Given the description of an element on the screen output the (x, y) to click on. 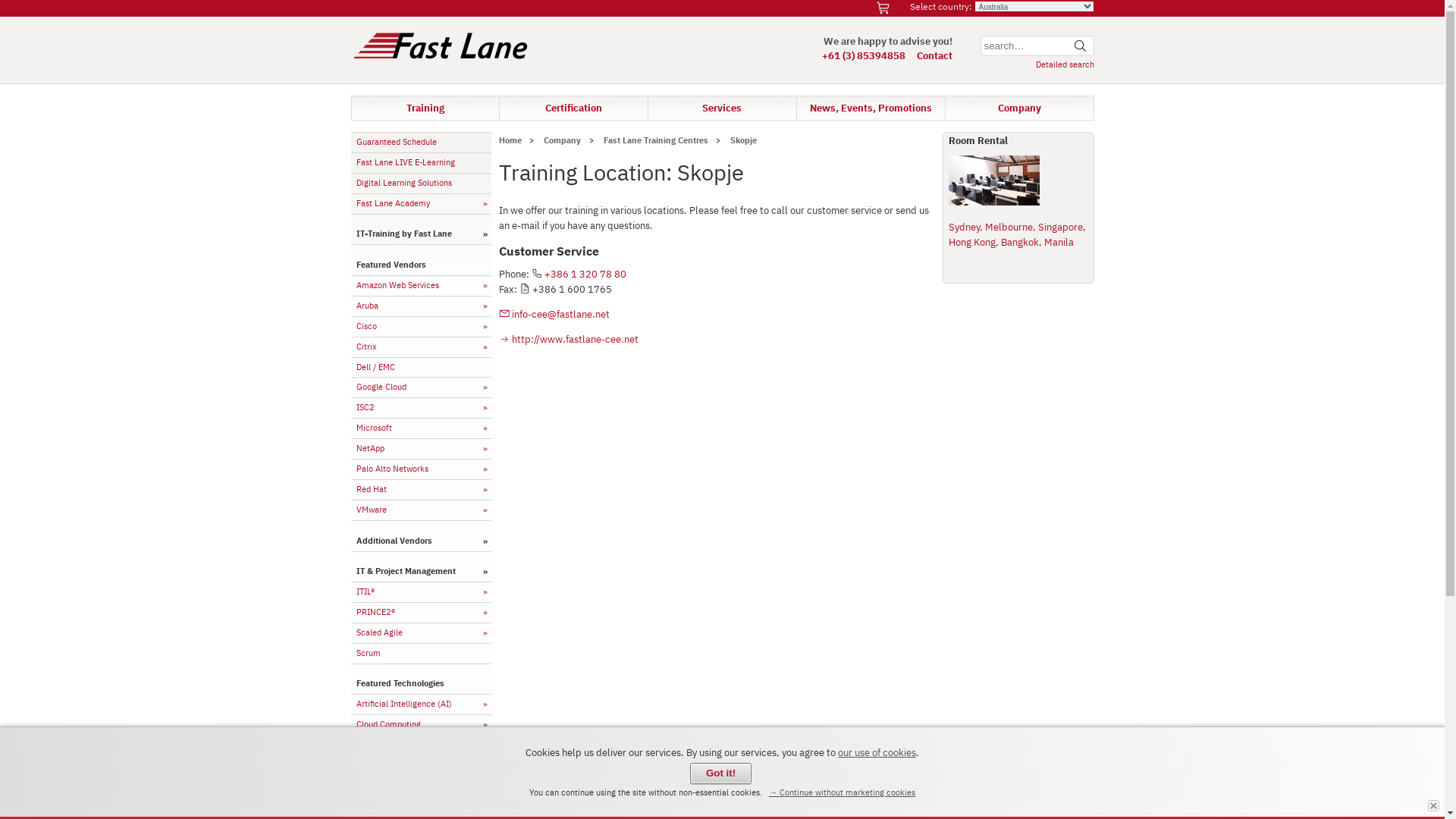
Sydney, Melbourne, Singapore, Hong Kong, Bangkok, Manila Element type: text (1016, 233)
Fast Lane Training Centres Element type: text (655, 139)
Scrum Element type: text (420, 653)
Home Element type: text (511, 139)
Digital Learning Solutions Element type: text (420, 183)
Fast Lane LIVE E-Learning Element type: text (420, 162)
http://www.fastlane-cee.net Element type: text (568, 338)
Contact Element type: text (934, 55)
Skopje Element type: text (743, 139)
Got it! Element type: text (720, 773)
Select country: Element type: text (941, 6)
Certification Element type: text (572, 107)
Dell / EMC Element type: text (420, 367)
Go to bookings page Element type: hover (884, 7)
+61 (3) 85394858 Element type: text (863, 55)
Got it! Element type: hover (1433, 805)
Use double quotes to search for exact phrases Element type: hover (1036, 45)
Company Element type: text (562, 139)
info-cee@fastlane.net Element type: text (554, 313)
Fast Lane Homepage Element type: hover (440, 61)
Guaranteed Schedule Element type: text (420, 142)
Detailed search Element type: text (1064, 64)
Company Element type: text (1018, 107)
Services Element type: text (721, 107)
our use of cookies Element type: text (876, 752)
Training Element type: text (424, 107)
+386 1 320 78 80 Element type: text (585, 273)
News, Events, Promotions Element type: text (870, 107)
